Given the description of an element on the screen output the (x, y) to click on. 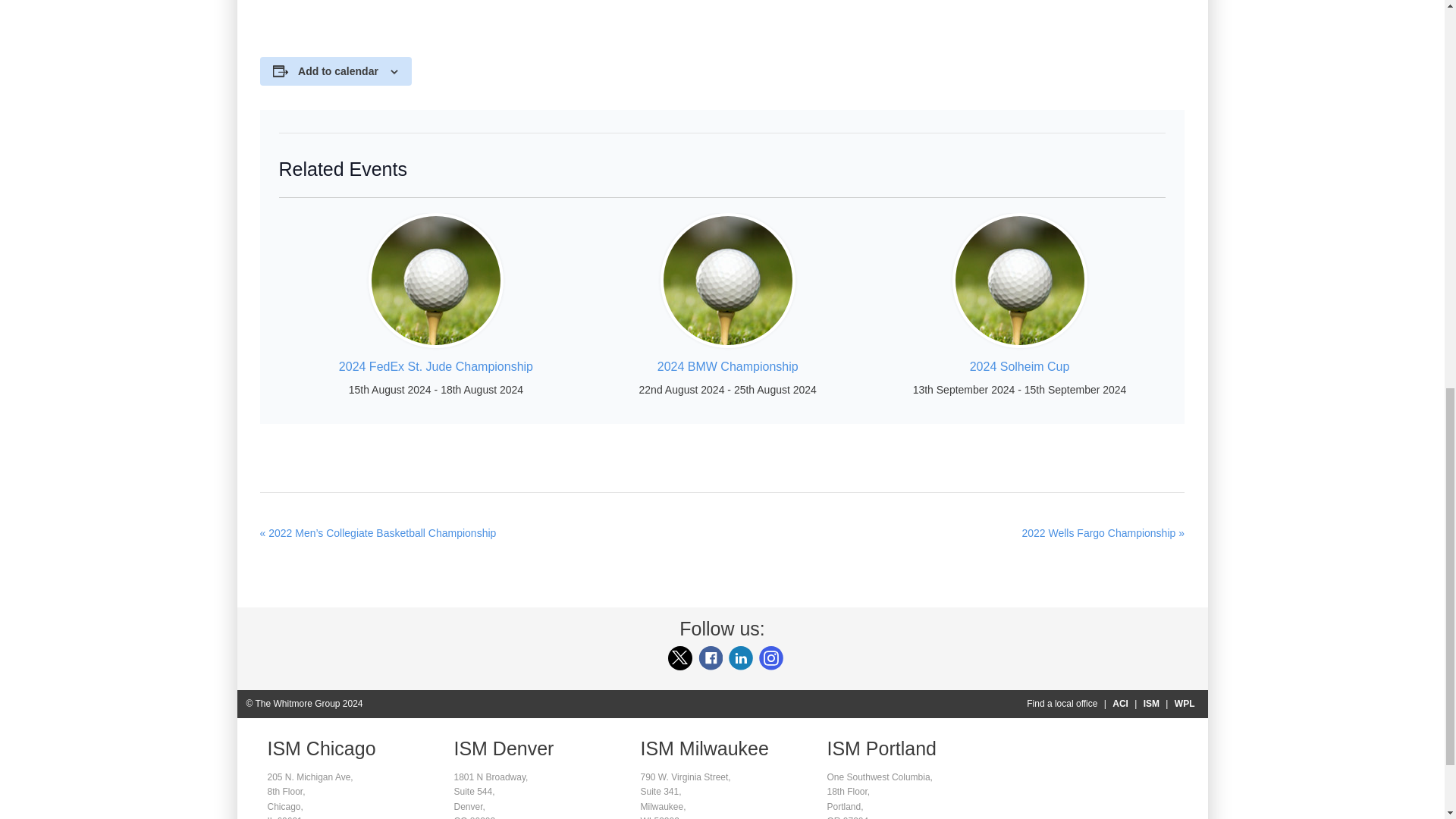
Facebook (709, 658)
Instagram (770, 658)
2024 FedEx St. Jude Championship (435, 366)
2024 BMW Championship (727, 366)
LinkedIn (740, 658)
Twitter (678, 658)
Add to calendar (338, 70)
